Given the description of an element on the screen output the (x, y) to click on. 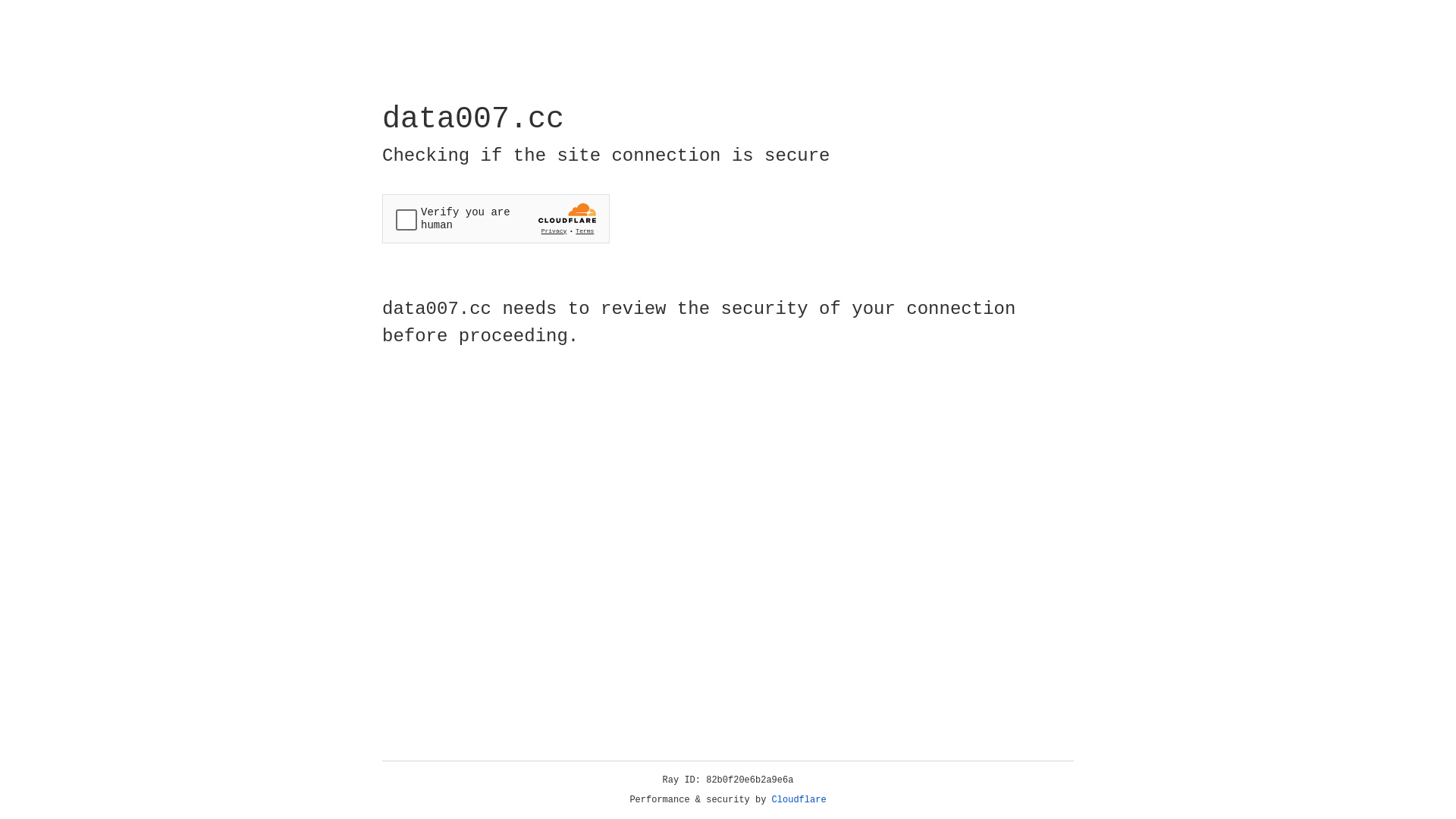
Cloudflare Element type: text (798, 799)
Widget containing a Cloudflare security challenge Element type: hover (495, 218)
